Given the description of an element on the screen output the (x, y) to click on. 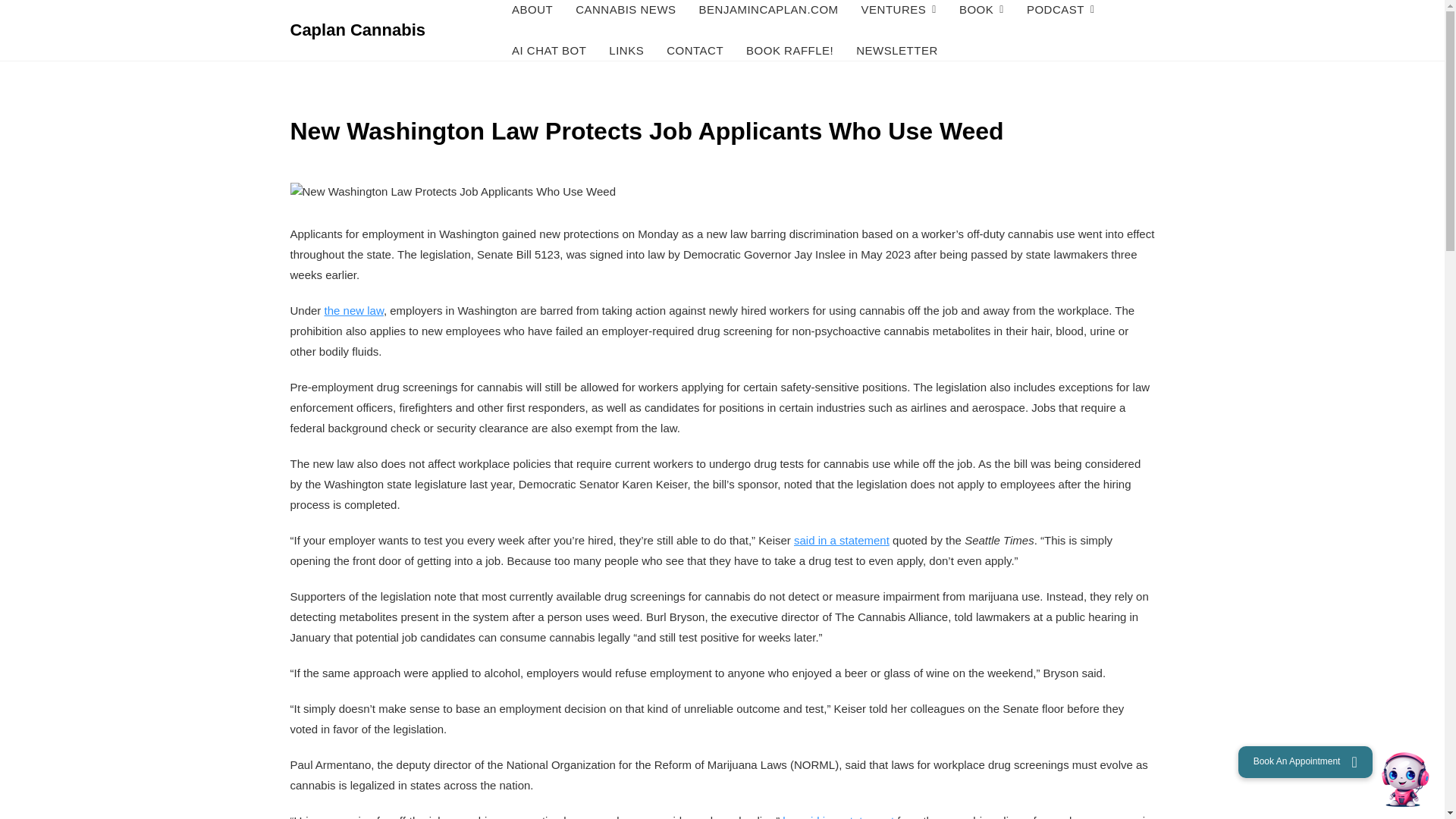
ABOUT (532, 15)
VENTURES (898, 15)
LINKS (625, 51)
BENJAMINCAPLAN.COM (768, 15)
CONTACT (694, 51)
BOOK (981, 15)
AI CHAT BOT (549, 51)
CANNABIS NEWS (625, 15)
BOOK RAFFLE! (788, 51)
NEWSLETTER (896, 51)
Caplan Cannabis (357, 29)
PODCAST (1060, 15)
